Given the description of an element on the screen output the (x, y) to click on. 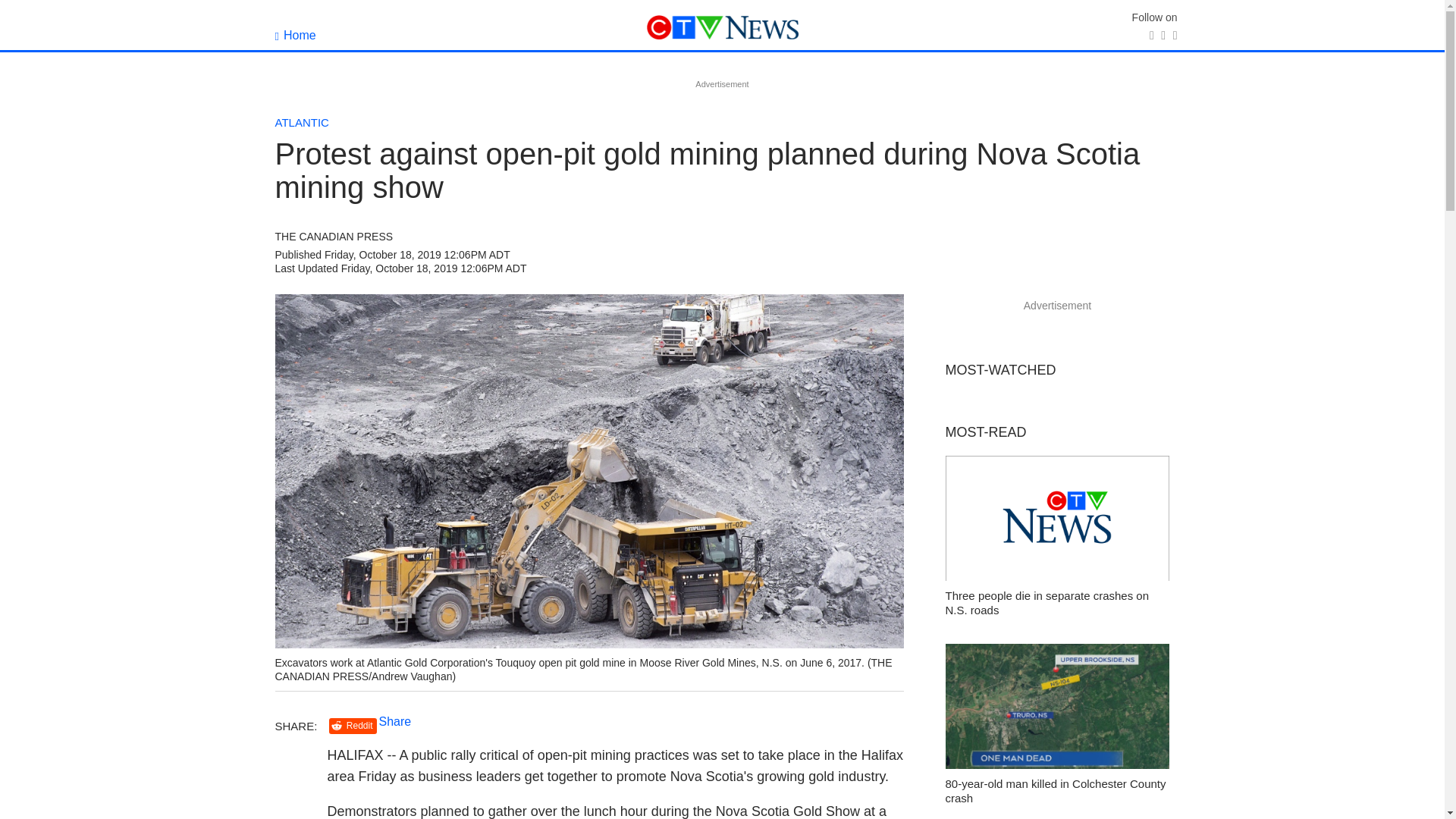
Share (395, 721)
ATLANTIC (302, 122)
Reddit (353, 725)
Home (295, 34)
